Given the description of an element on the screen output the (x, y) to click on. 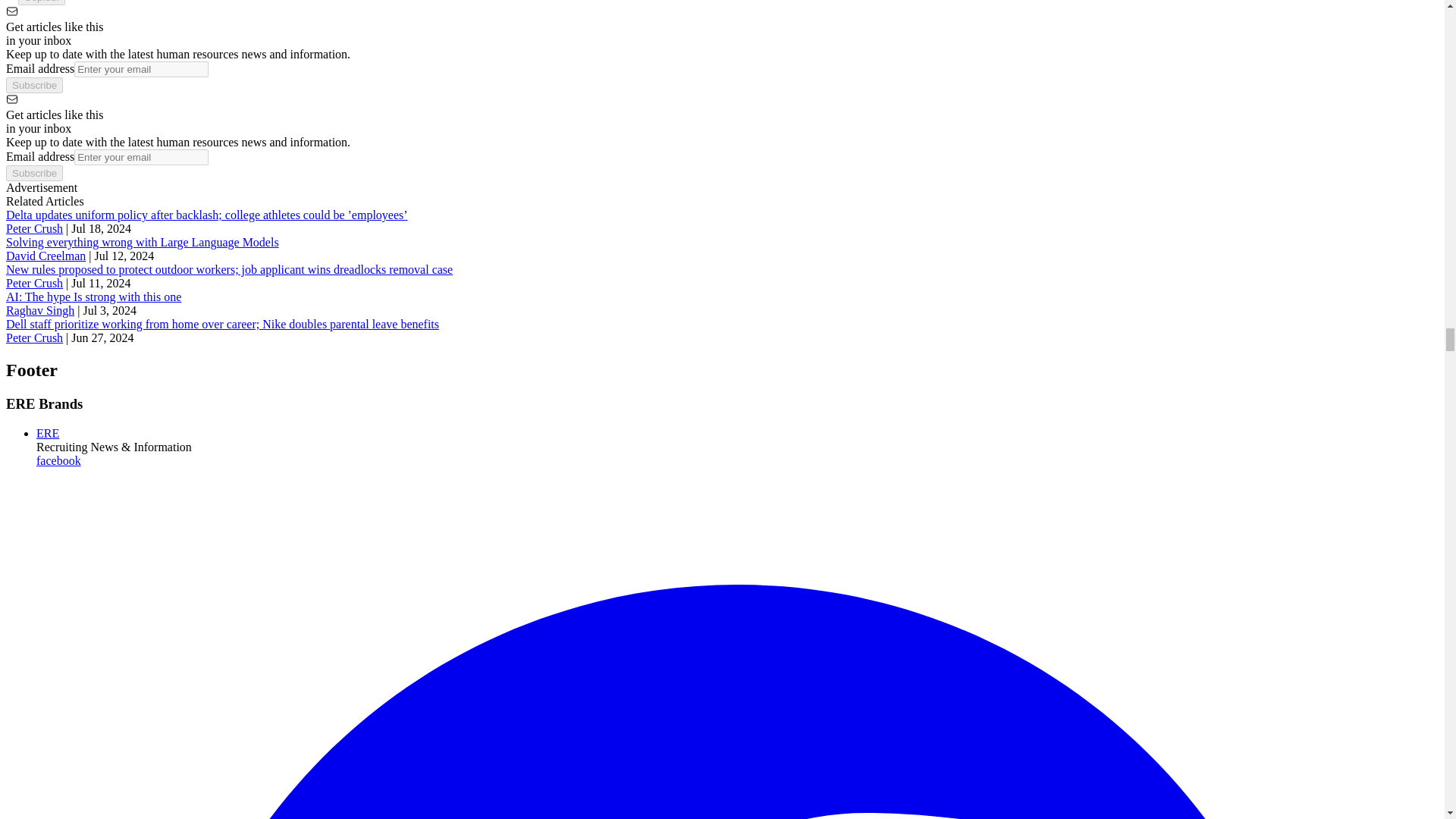
Peter Crush (33, 282)
AI: The hype Is strong with this one (92, 296)
Raghav Singh (39, 309)
Peter Crush (33, 228)
Solving everything wrong with Large Language Models (142, 241)
Copied! (41, 2)
ERE (47, 432)
Subscribe (33, 84)
Peter Crush (33, 337)
Subscribe (33, 172)
David Creelman (45, 255)
